Given the description of an element on the screen output the (x, y) to click on. 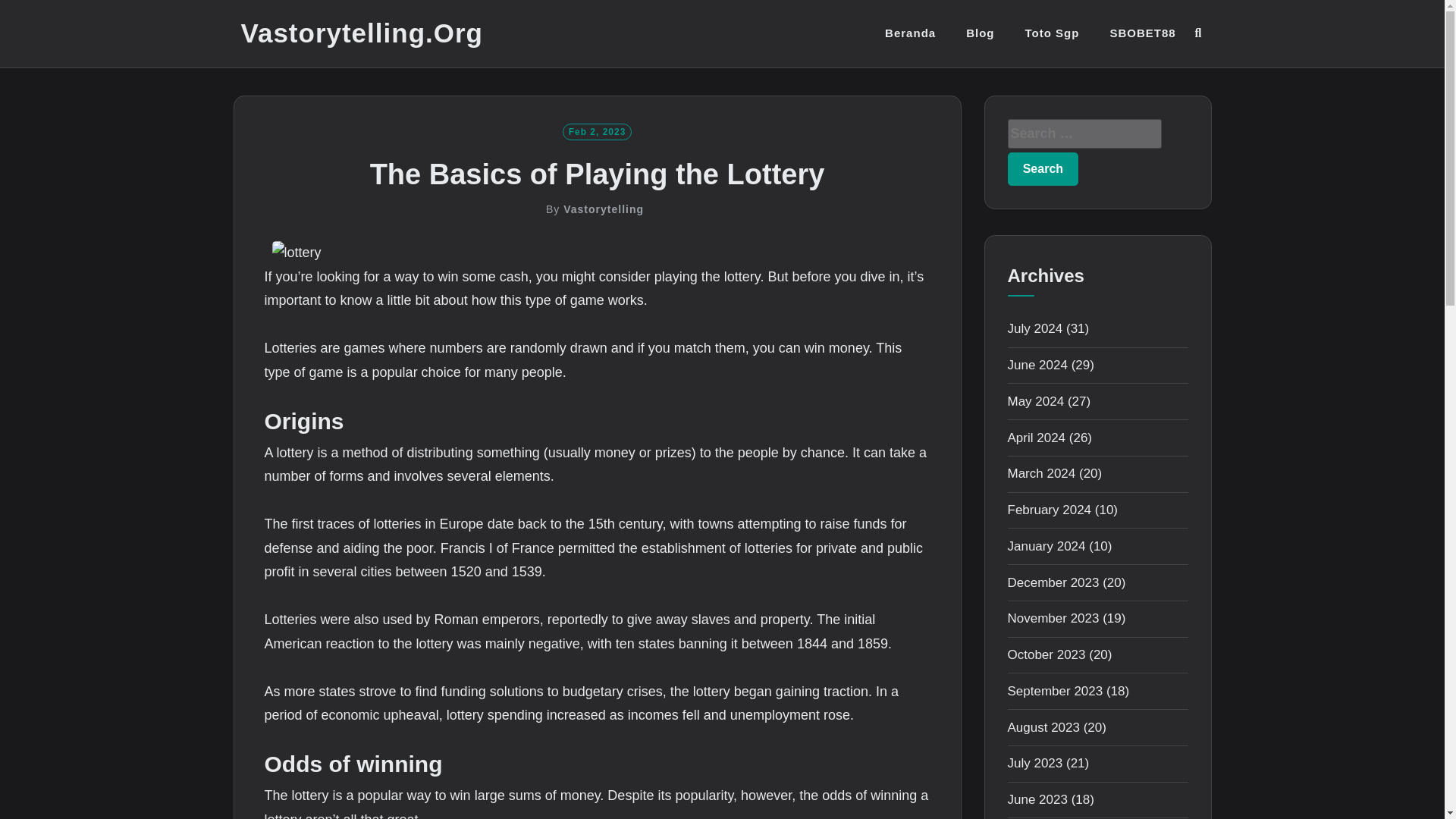
Search (1042, 168)
Feb 2, 2023 (596, 130)
February 2024 (1048, 509)
December 2023 (1053, 582)
May 2024 (1035, 400)
Search (1042, 168)
March 2024 (1041, 473)
January 2024 (1045, 545)
October 2023 (1045, 654)
August 2023 (1042, 727)
November 2023 (1053, 617)
Toto Sgp (1052, 33)
June 2024 (1037, 364)
April 2024 (1036, 437)
September 2023 (1054, 690)
